Given the description of an element on the screen output the (x, y) to click on. 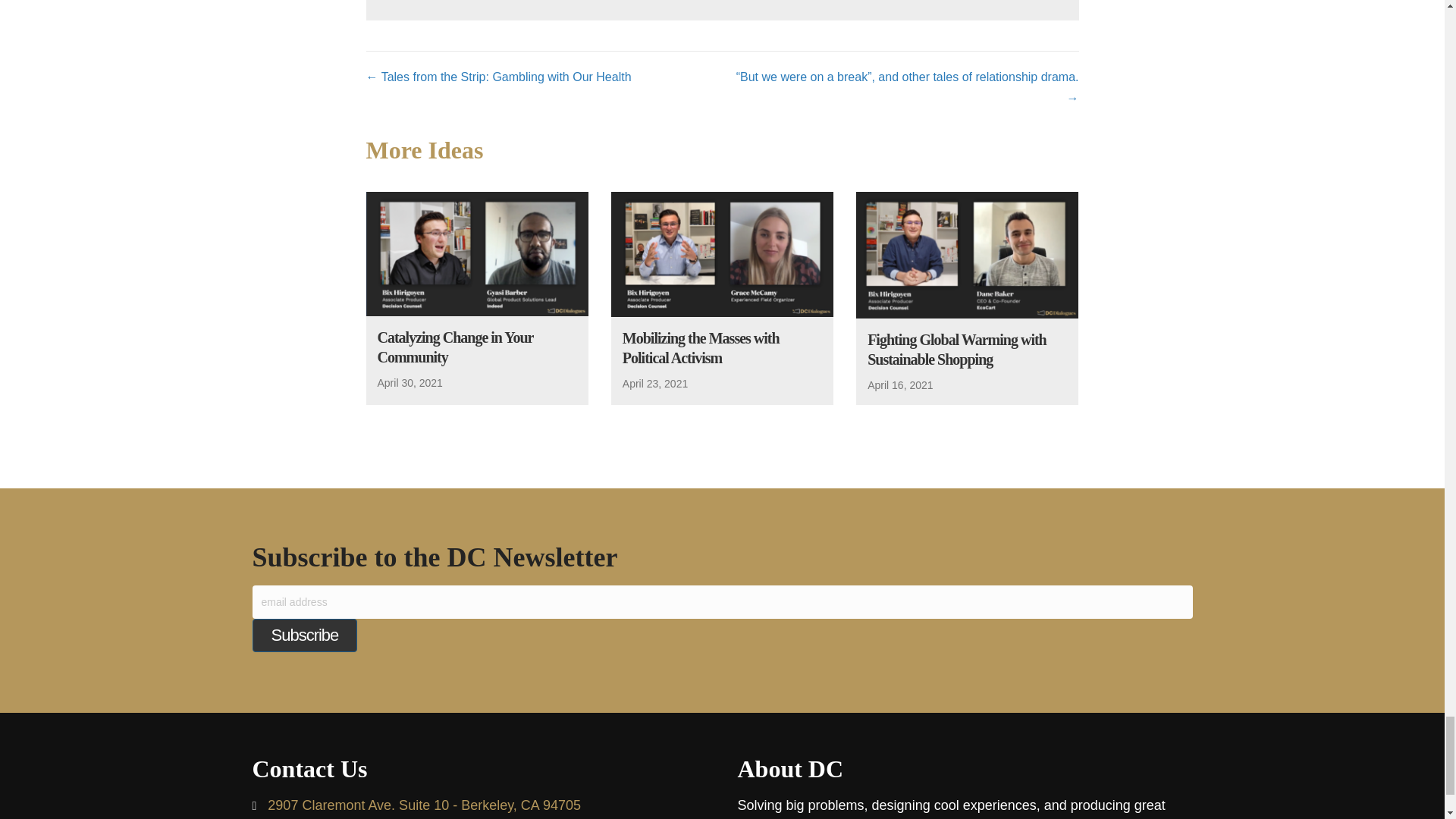
Fighting Global Warming with Sustainable Shopping (956, 349)
Catalyzing Change in Your Community (476, 252)
Fighting Global Warming with Sustainable Shopping (956, 349)
2907 Claremont Ave. Suite 10 - Berkeley, CA 94705 (423, 805)
Mobilizing the Masses with Political Activism (721, 252)
Subscribe (303, 635)
Mobilizing the Masses with Political Activism (700, 348)
Catalyzing Change in Your Community (455, 347)
Mobilizing the Masses with Political Activism (700, 348)
Subscribe (303, 635)
Catalyzing Change in Your Community (455, 347)
Fighting Global Warming with Sustainable Shopping (967, 253)
